Given the description of an element on the screen output the (x, y) to click on. 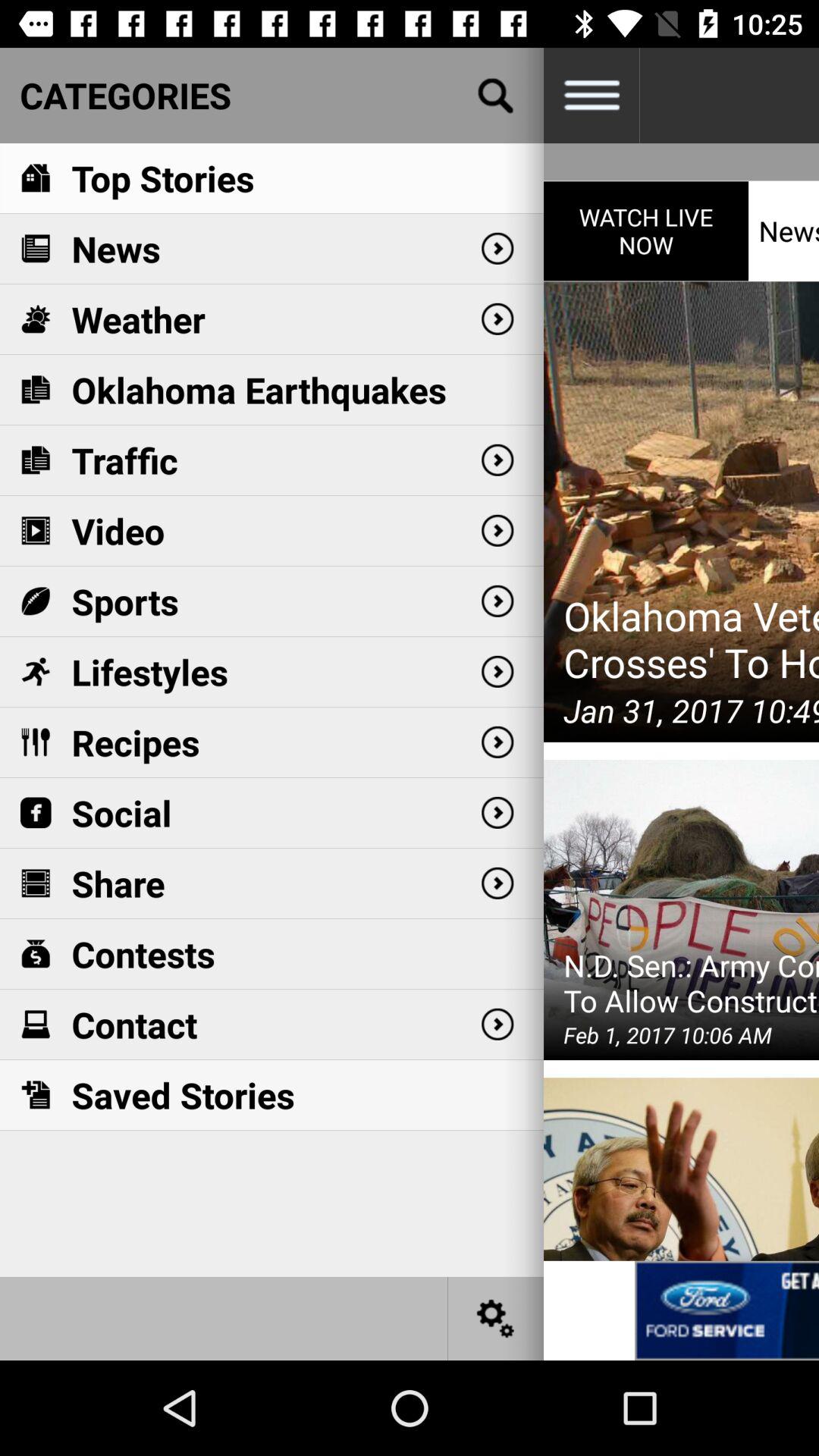
conceal menu (591, 95)
